Given the description of an element on the screen output the (x, y) to click on. 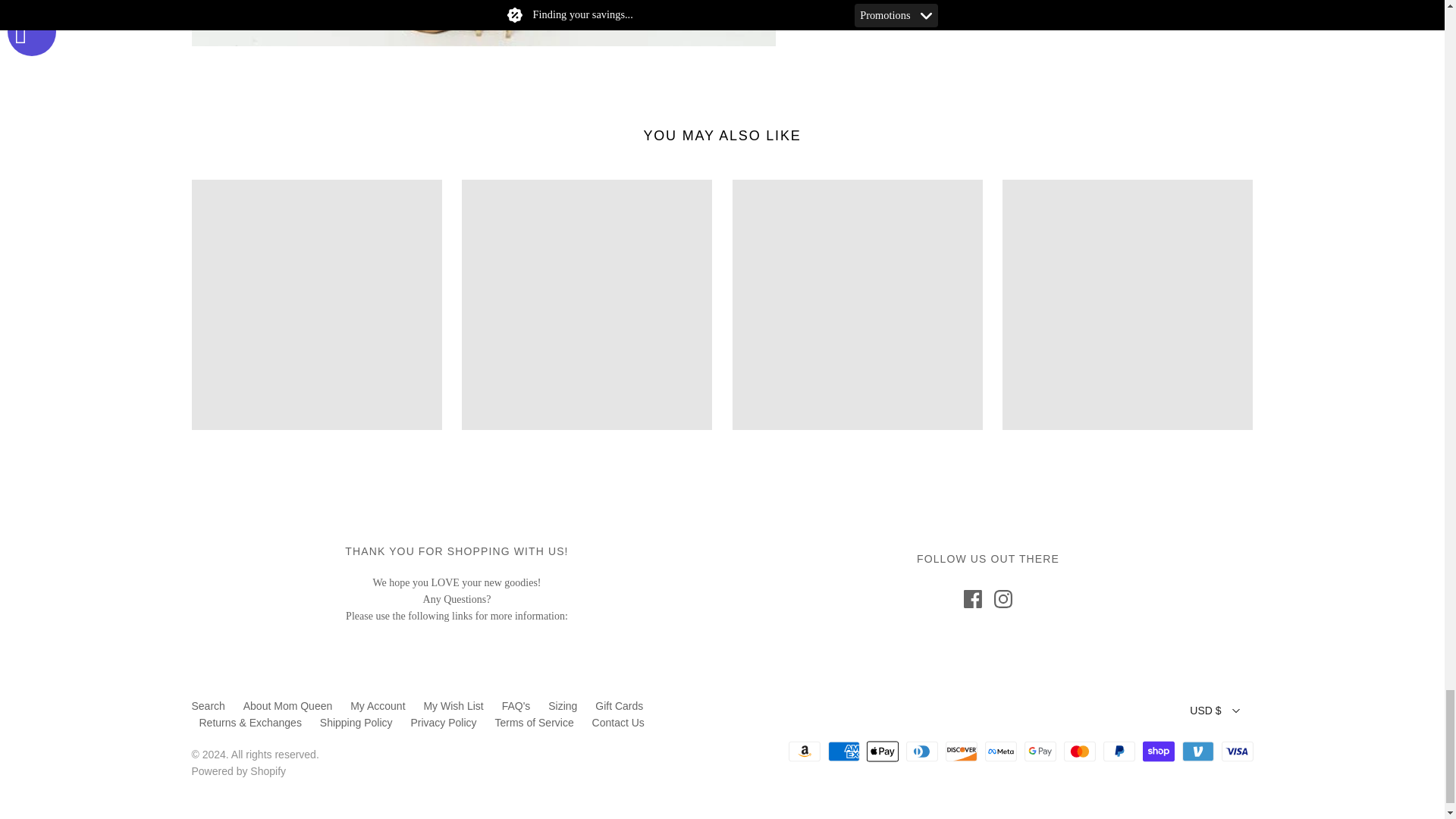
Amazon (805, 751)
Discover (960, 751)
Apple Pay (882, 751)
Meta Pay (1000, 751)
American Express (844, 751)
Diners Club (921, 751)
